Given the description of an element on the screen output the (x, y) to click on. 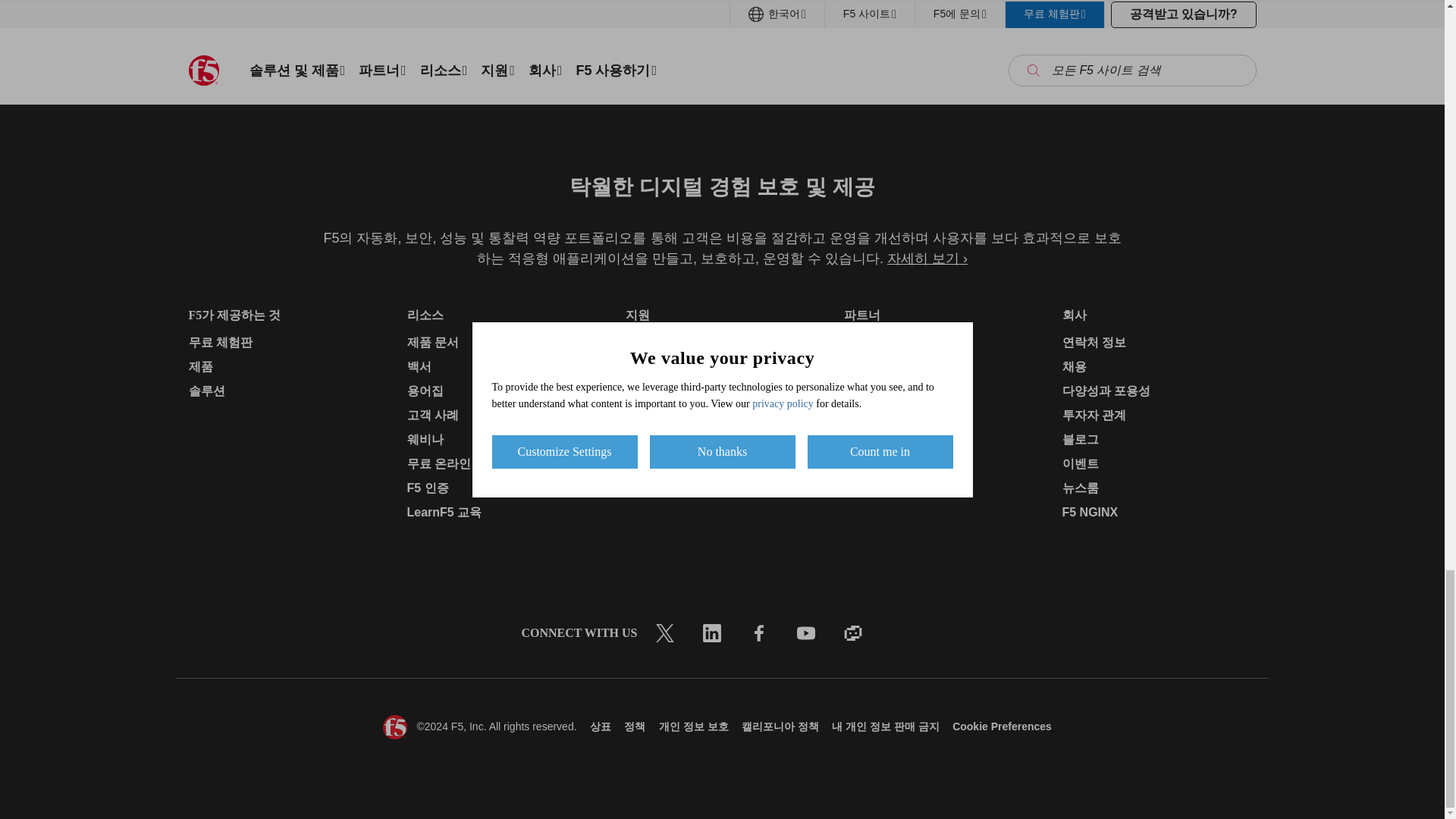
Join the discussion (271, 12)
Explore F5 solutions (638, 12)
Read their stories (992, 12)
